Given the description of an element on the screen output the (x, y) to click on. 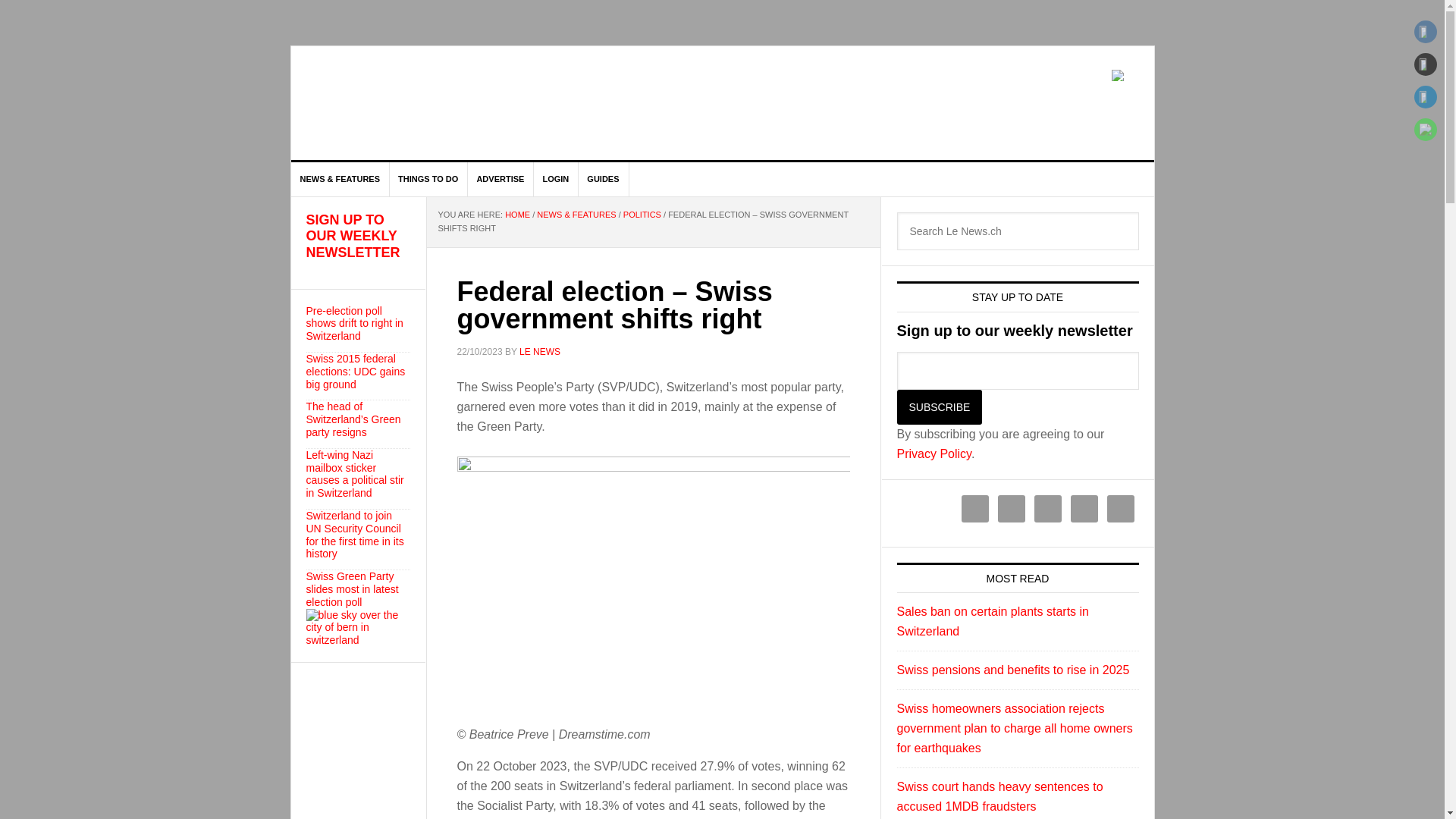
LOGIN (555, 179)
GUIDES (603, 179)
LE NEWS (419, 102)
Subscribe (938, 407)
POLITICS (642, 214)
ADVERTISE (500, 179)
THINGS TO DO (427, 179)
LE NEWS (539, 351)
